Given the description of an element on the screen output the (x, y) to click on. 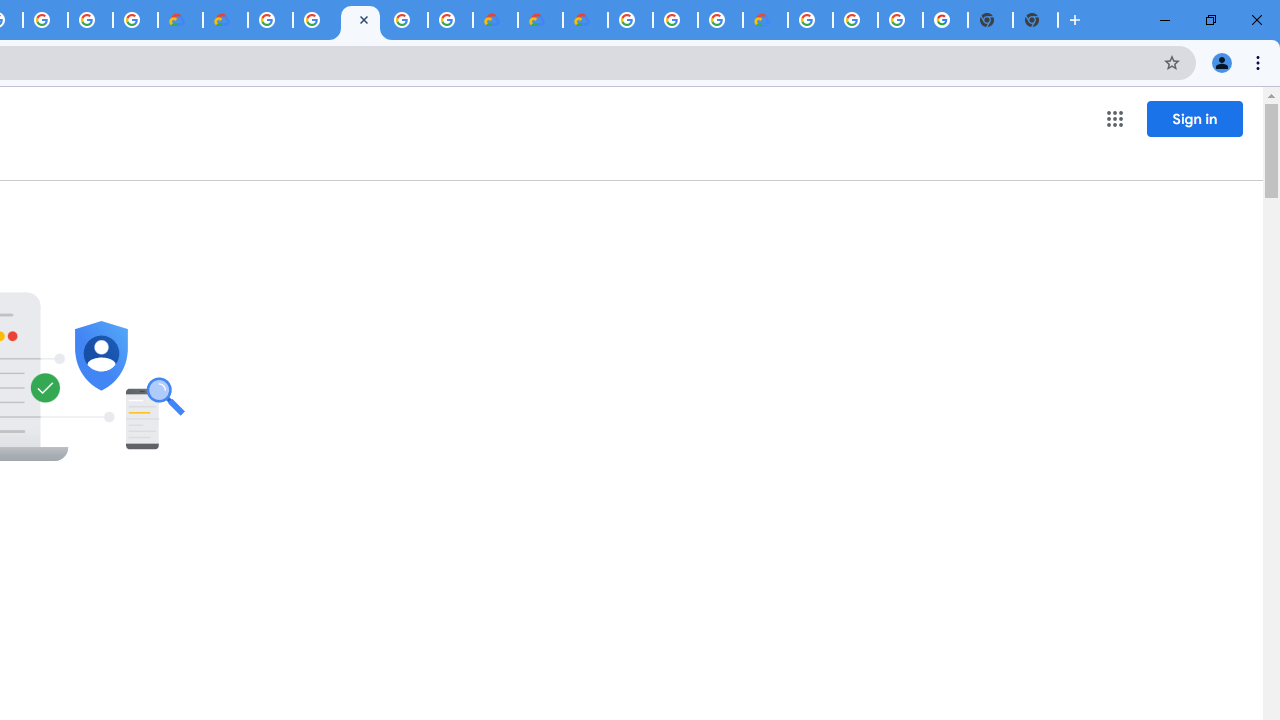
Google Cloud Platform (855, 20)
Google Cloud Platform (270, 20)
Customer Care | Google Cloud (495, 20)
Google Cloud Estimate Summary (585, 20)
Google Workspace - Specific Terms (89, 20)
